Given the description of an element on the screen output the (x, y) to click on. 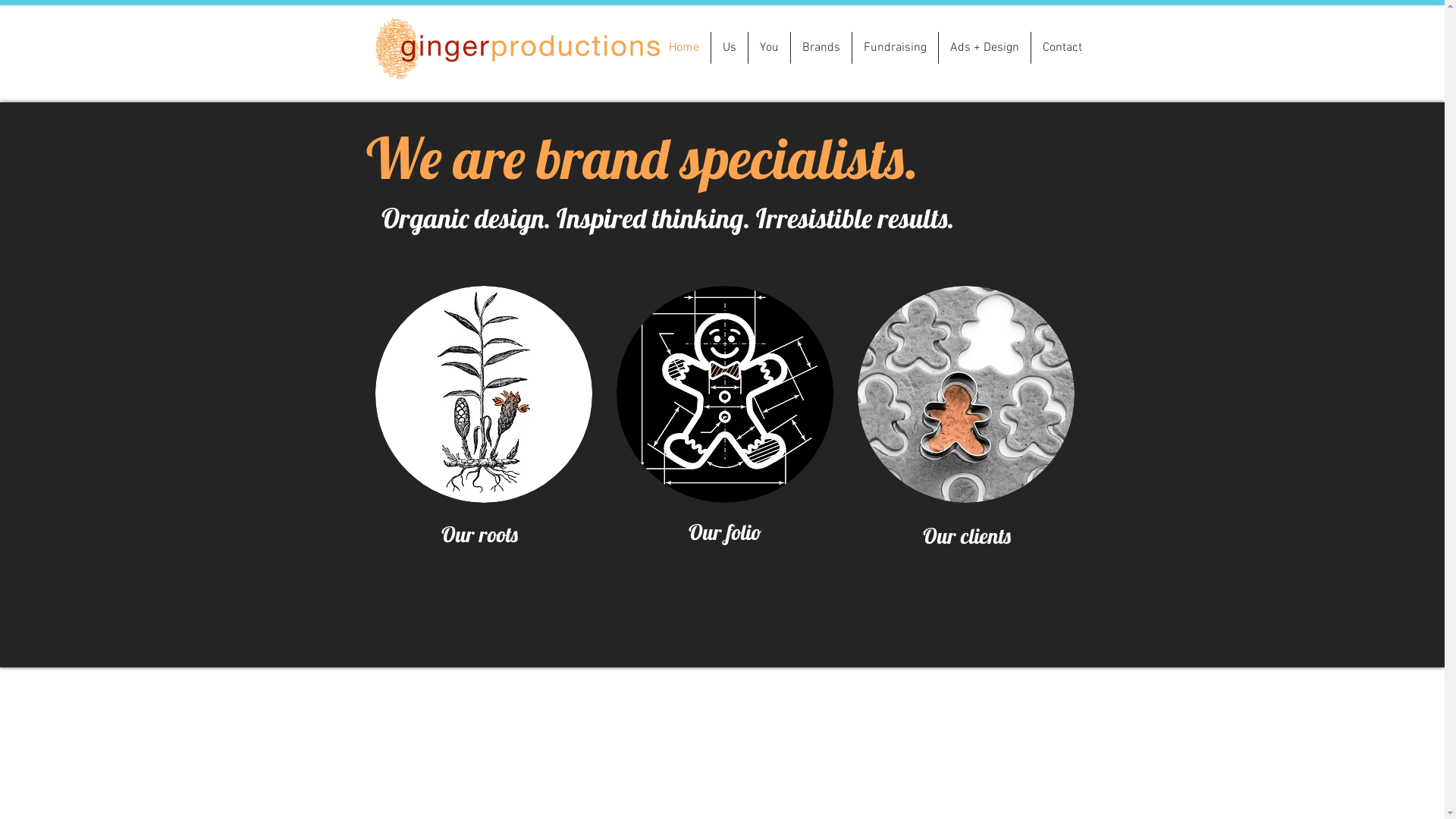
You Element type: text (768, 47)
Fundraising Element type: text (895, 47)
Home Element type: text (682, 47)
Us Element type: text (729, 47)
Brands Element type: text (820, 47)
Contact Element type: text (1062, 47)
GP horizontal logo.png Element type: hover (516, 48)
Ads + Design Element type: text (984, 47)
